Given the description of an element on the screen output the (x, y) to click on. 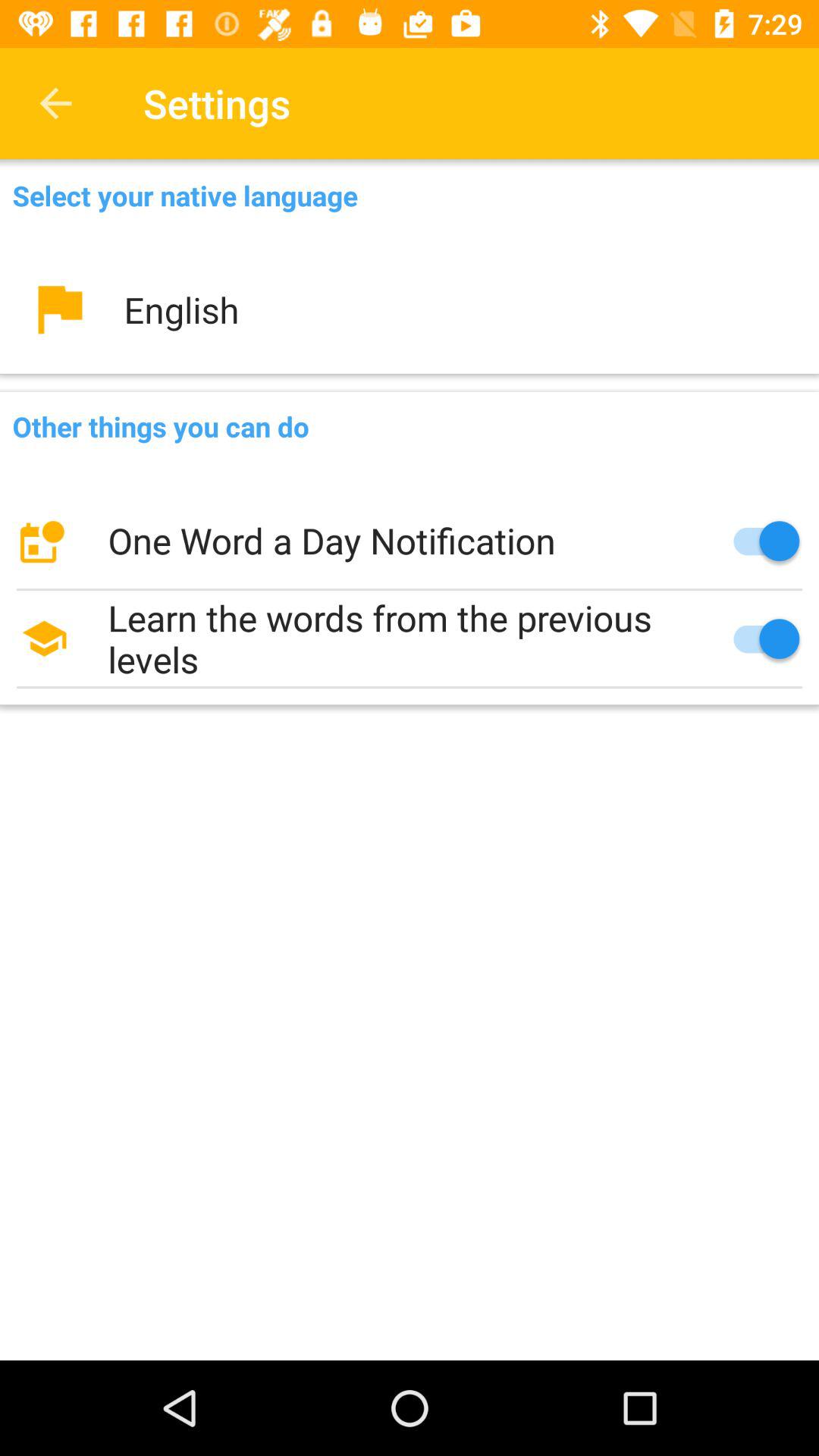
choose item above the other things you item (409, 309)
